Given the description of an element on the screen output the (x, y) to click on. 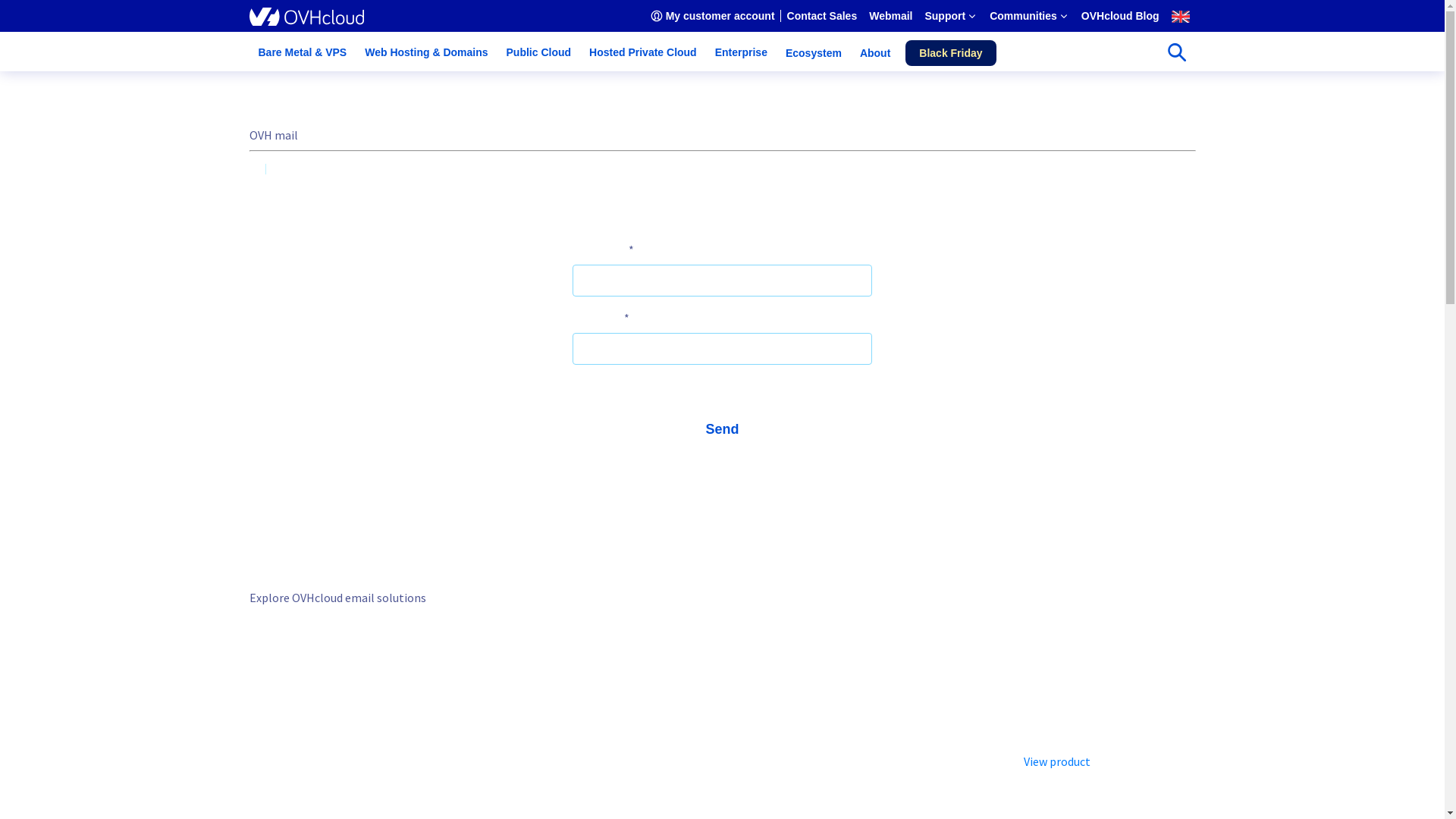
Order now Element type: text (559, 722)
My customer account Element type: text (712, 15)
View product Element type: text (1056, 760)
Black Friday Element type: text (950, 52)
Support Element type: text (950, 15)
Webmail Element type: text (890, 15)
Send Element type: text (721, 429)
Open search bar Element type: text (1176, 52)
Ecosystem Element type: text (813, 52)
Contact Sales Element type: text (822, 15)
Bare Metal & VPS Element type: text (301, 52)
Order now Element type: text (799, 722)
Public Cloud Element type: text (538, 52)
Order now Element type: text (318, 722)
OVHcloud Blog Element type: text (1120, 15)
Communities Element type: text (1029, 15)
Enterprise Element type: text (741, 52)
About Element type: text (874, 52)
Web Hosting & Domains Element type: text (425, 52)
Hosted Private Cloud Element type: text (642, 52)
